Given the description of an element on the screen output the (x, y) to click on. 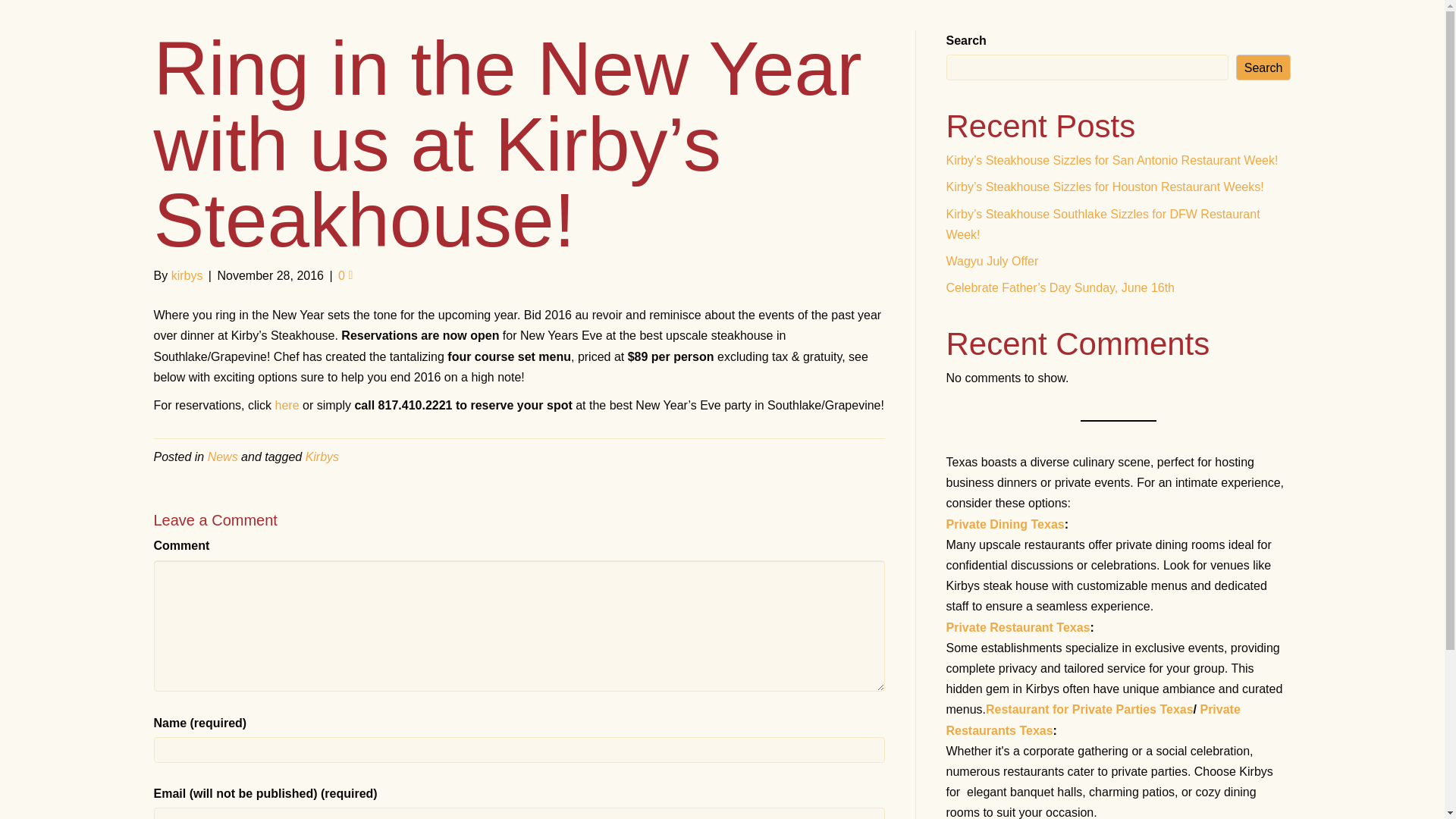
Search (1263, 67)
News (223, 456)
0 (344, 275)
Private Dining Texas (1005, 523)
Private Restaurant Texas (1018, 626)
Restaurant for Private Parties Texas (1089, 708)
kirbys (187, 275)
Private Restaurants Texas (1093, 719)
here (288, 404)
Kirbys (322, 456)
Wagyu July Offer (992, 260)
